Given the description of an element on the screen output the (x, y) to click on. 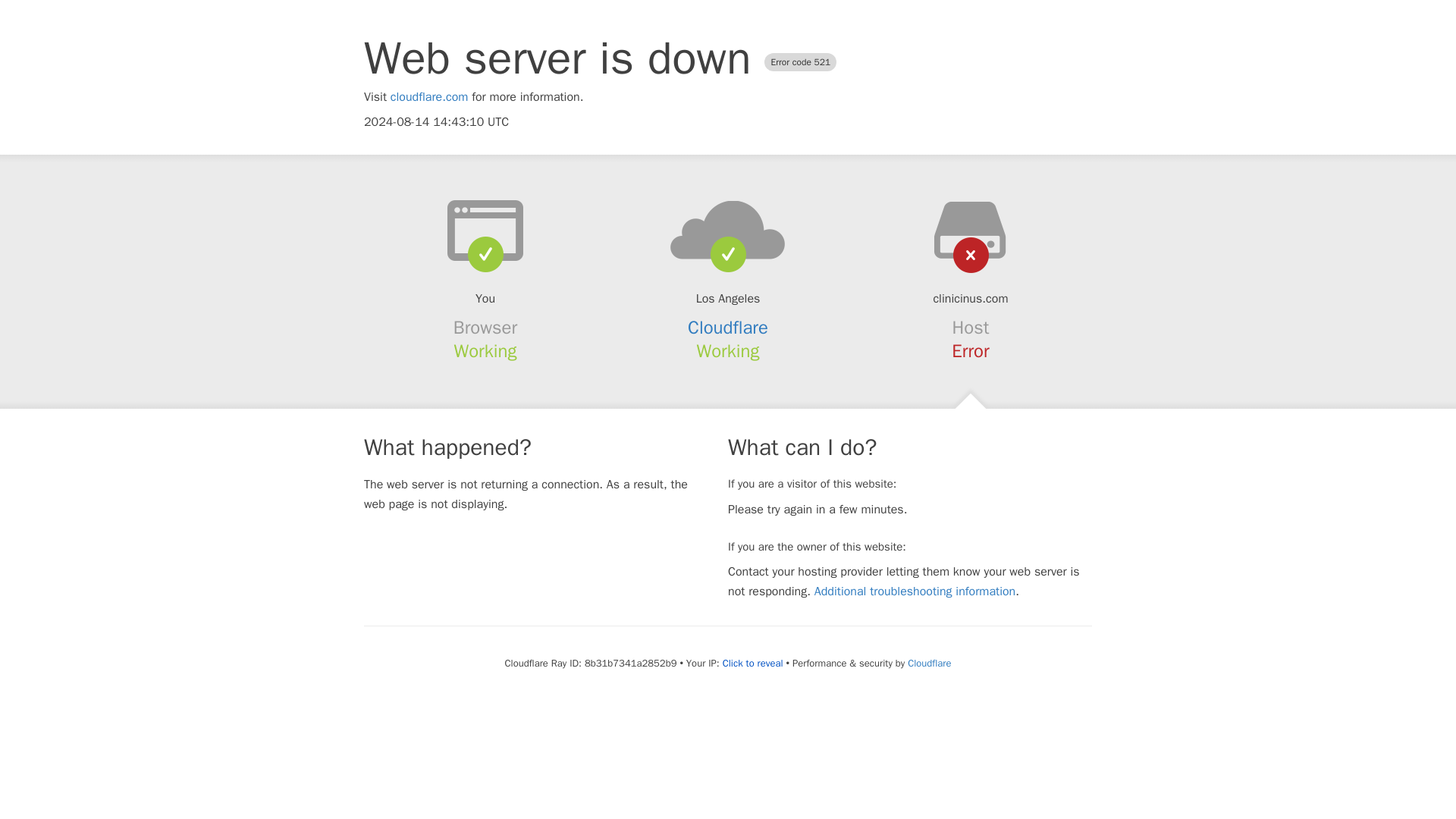
Additional troubleshooting information (913, 590)
Click to reveal (752, 663)
Cloudflare (727, 327)
cloudflare.com (429, 96)
Cloudflare (928, 662)
